Given the description of an element on the screen output the (x, y) to click on. 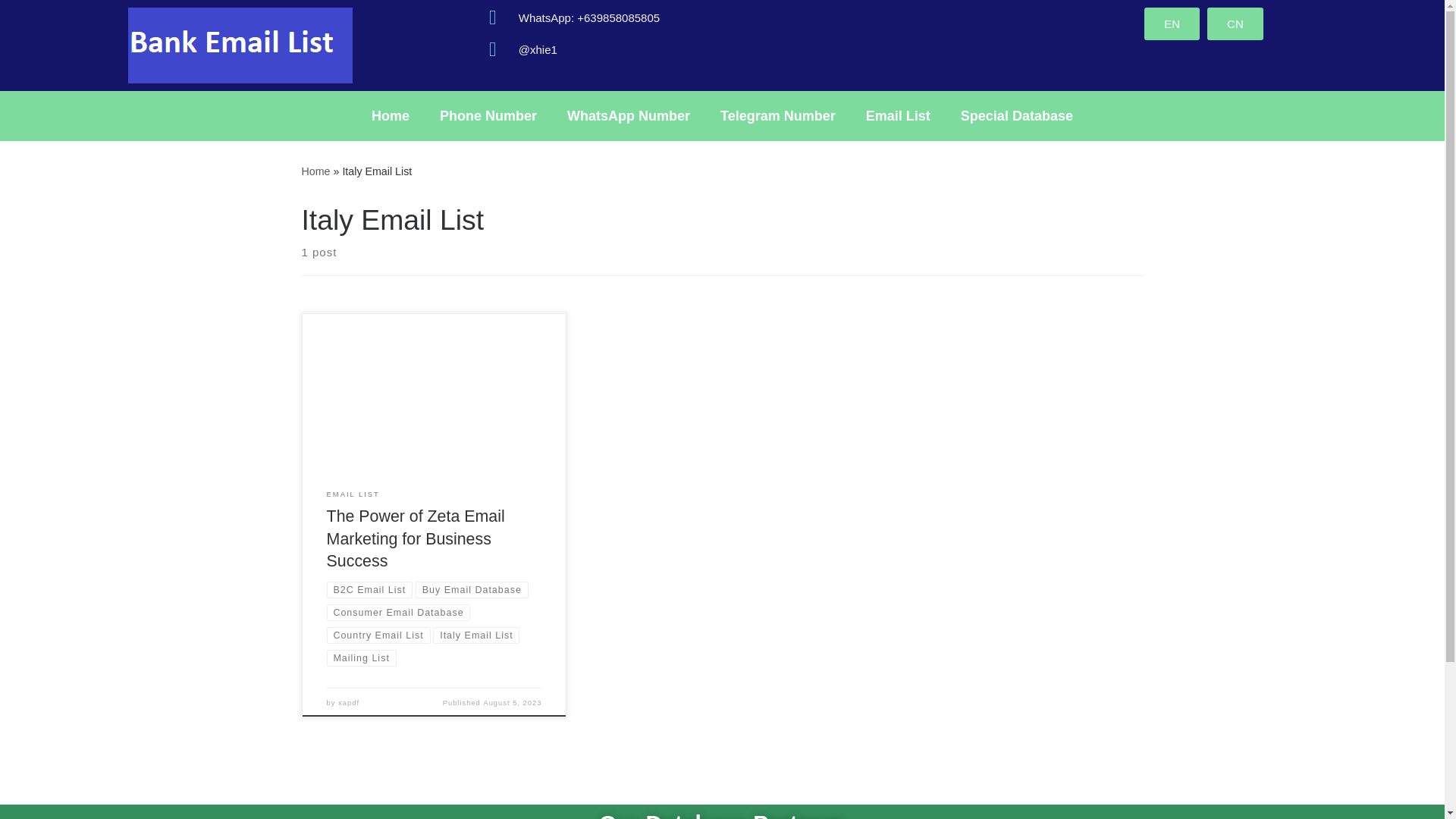
Telegram Number (777, 115)
WhatsApp Number (627, 115)
The Power of Zeta Email Marketing for Business Success (415, 538)
Home (390, 115)
View all posts in Country Email List (378, 635)
View all posts in B2C Email List (369, 589)
Phone Number (488, 115)
CN (1235, 23)
View all posts in Email List (353, 494)
